Given the description of an element on the screen output the (x, y) to click on. 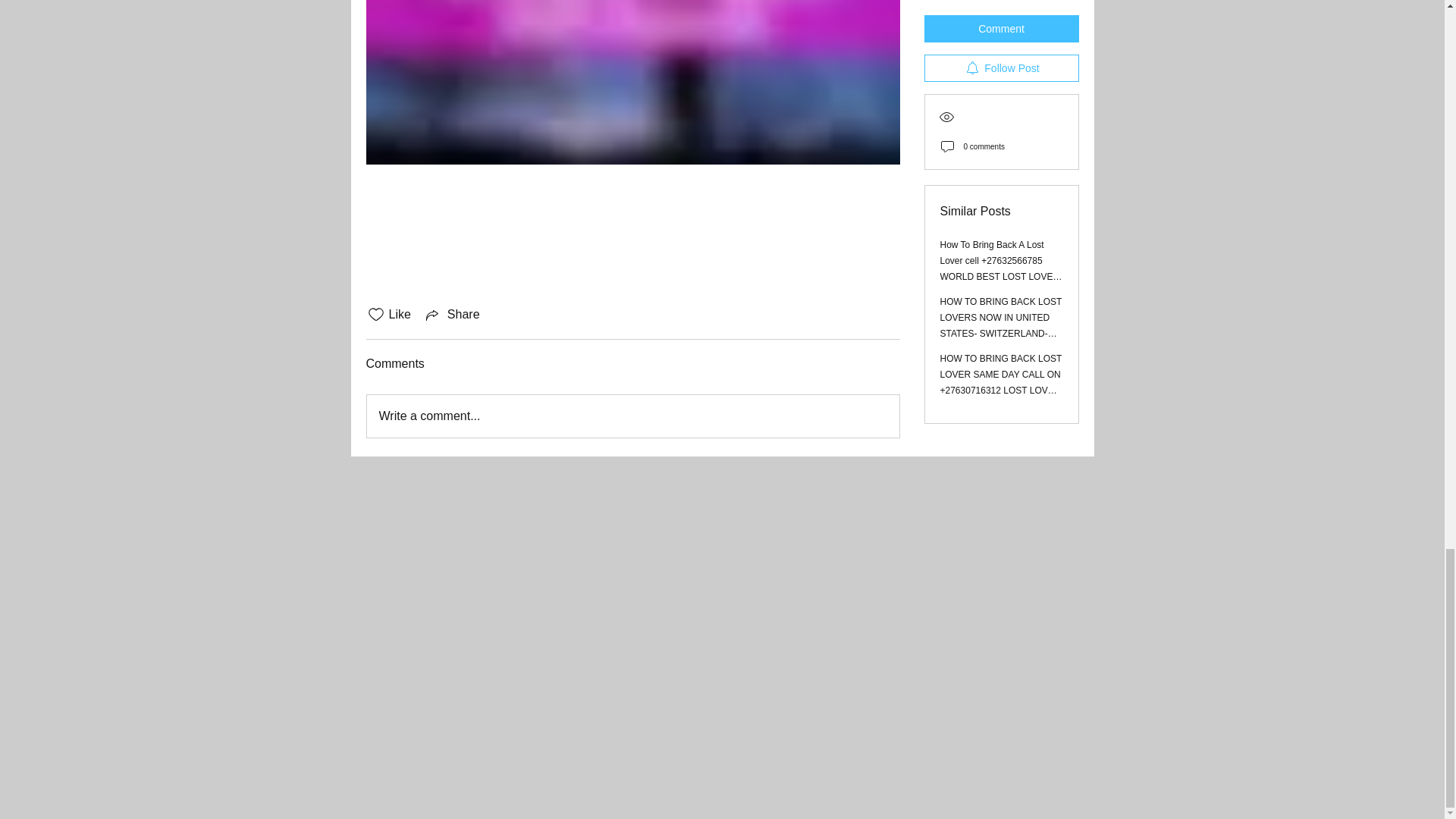
Write a comment... (632, 415)
Share (451, 314)
